Given the description of an element on the screen output the (x, y) to click on. 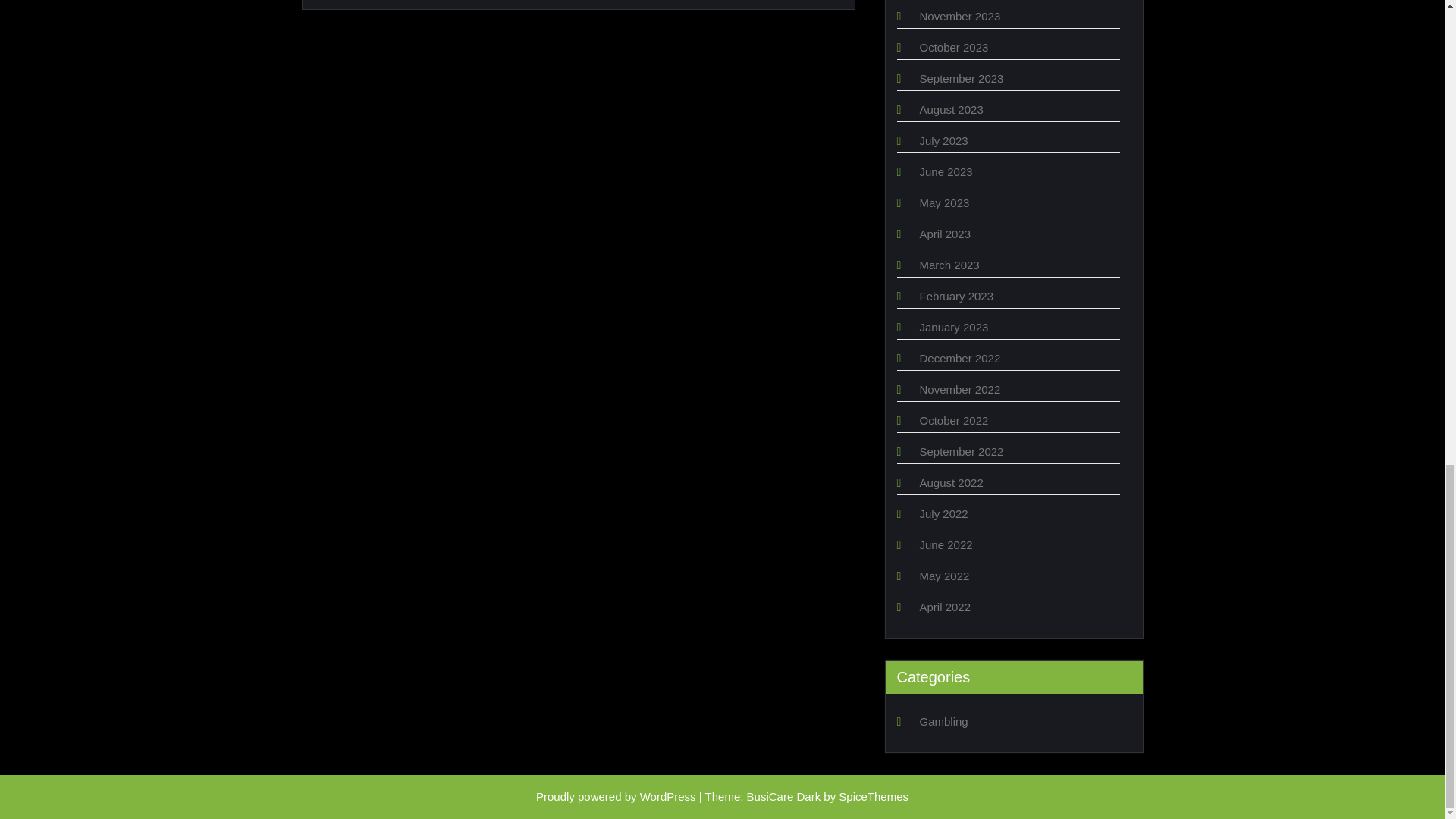
July 2022 (943, 513)
November 2022 (959, 389)
August 2022 (950, 481)
February 2023 (955, 295)
January 2023 (953, 327)
December 2022 (959, 358)
May 2022 (943, 575)
October 2023 (953, 47)
March 2023 (948, 264)
September 2022 (960, 451)
